Given the description of an element on the screen output the (x, y) to click on. 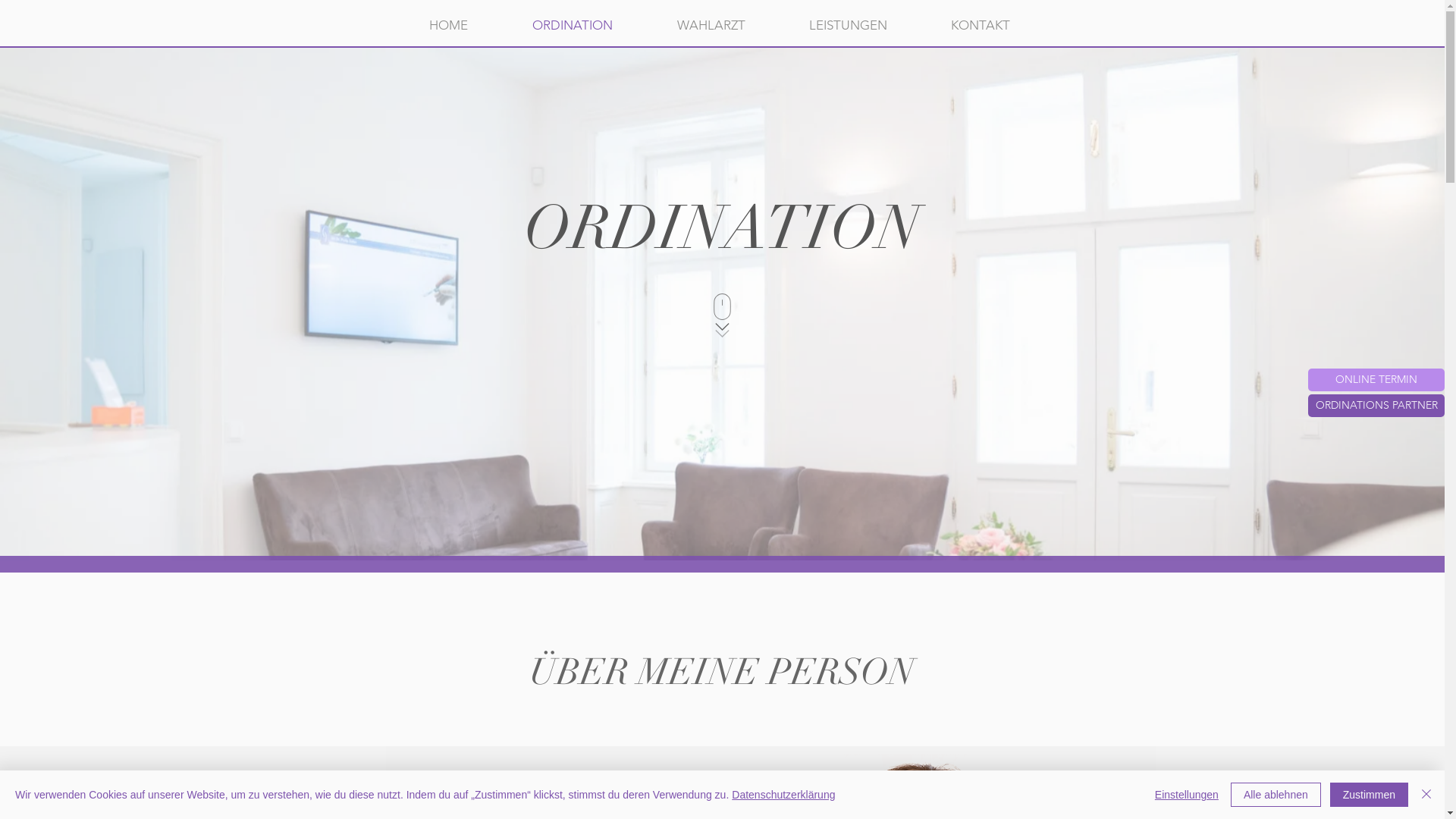
ORDINATIONS PARTNER Element type: text (1376, 405)
HOME Element type: text (448, 24)
WAHLARZT Element type: text (710, 24)
ONLINE TERMIN Element type: text (1376, 379)
LEISTUNGEN Element type: text (847, 24)
KONTAKT Element type: text (980, 24)
Zustimmen Element type: text (1369, 794)
ORDINATION Element type: text (572, 24)
Alle ablehnen Element type: text (1275, 794)
